Given the description of an element on the screen output the (x, y) to click on. 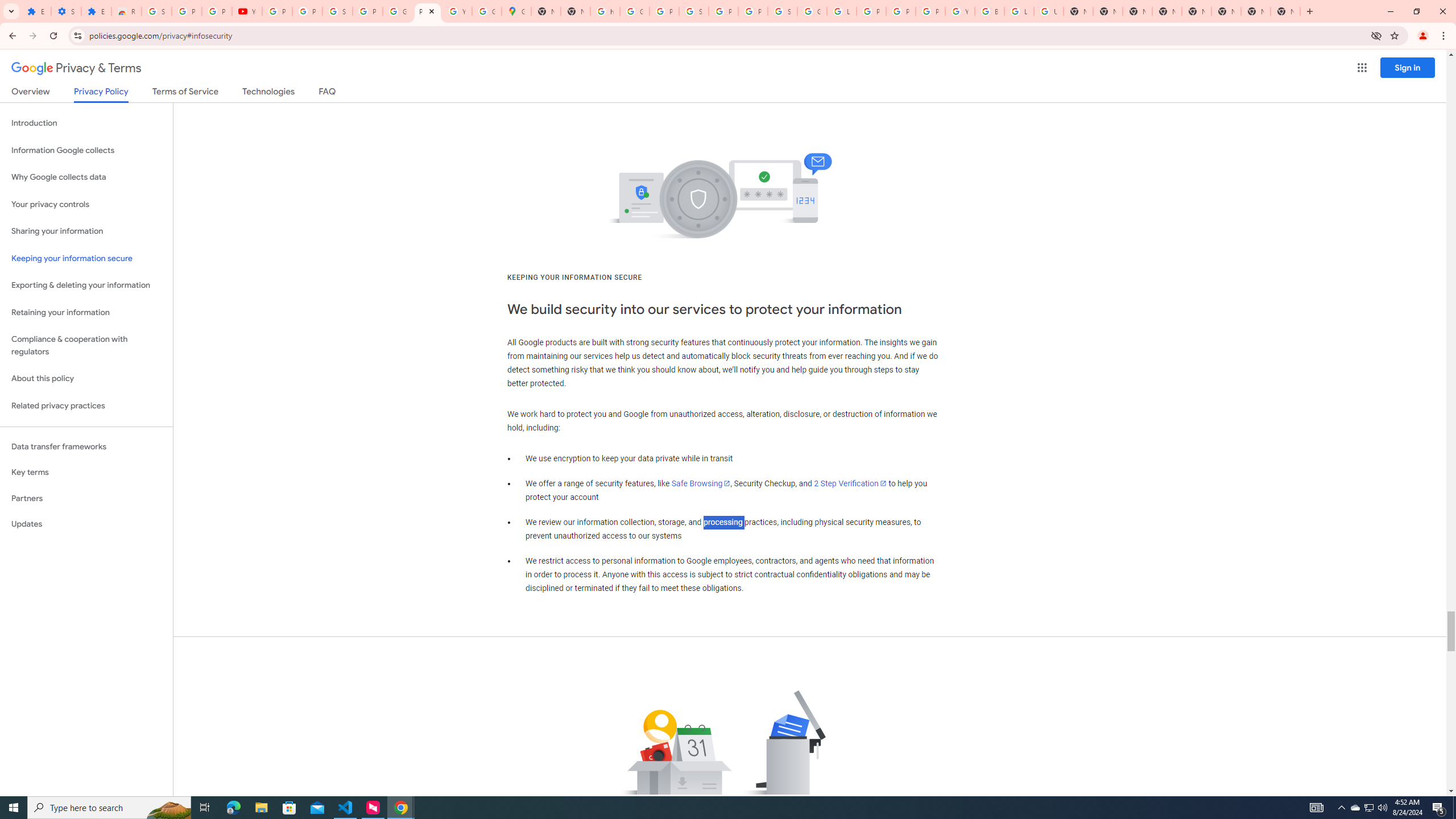
YouTube (247, 11)
Extensions (36, 11)
New Tab (1284, 11)
2 Step Verification (849, 483)
Safe Browsing (700, 483)
